Given the description of an element on the screen output the (x, y) to click on. 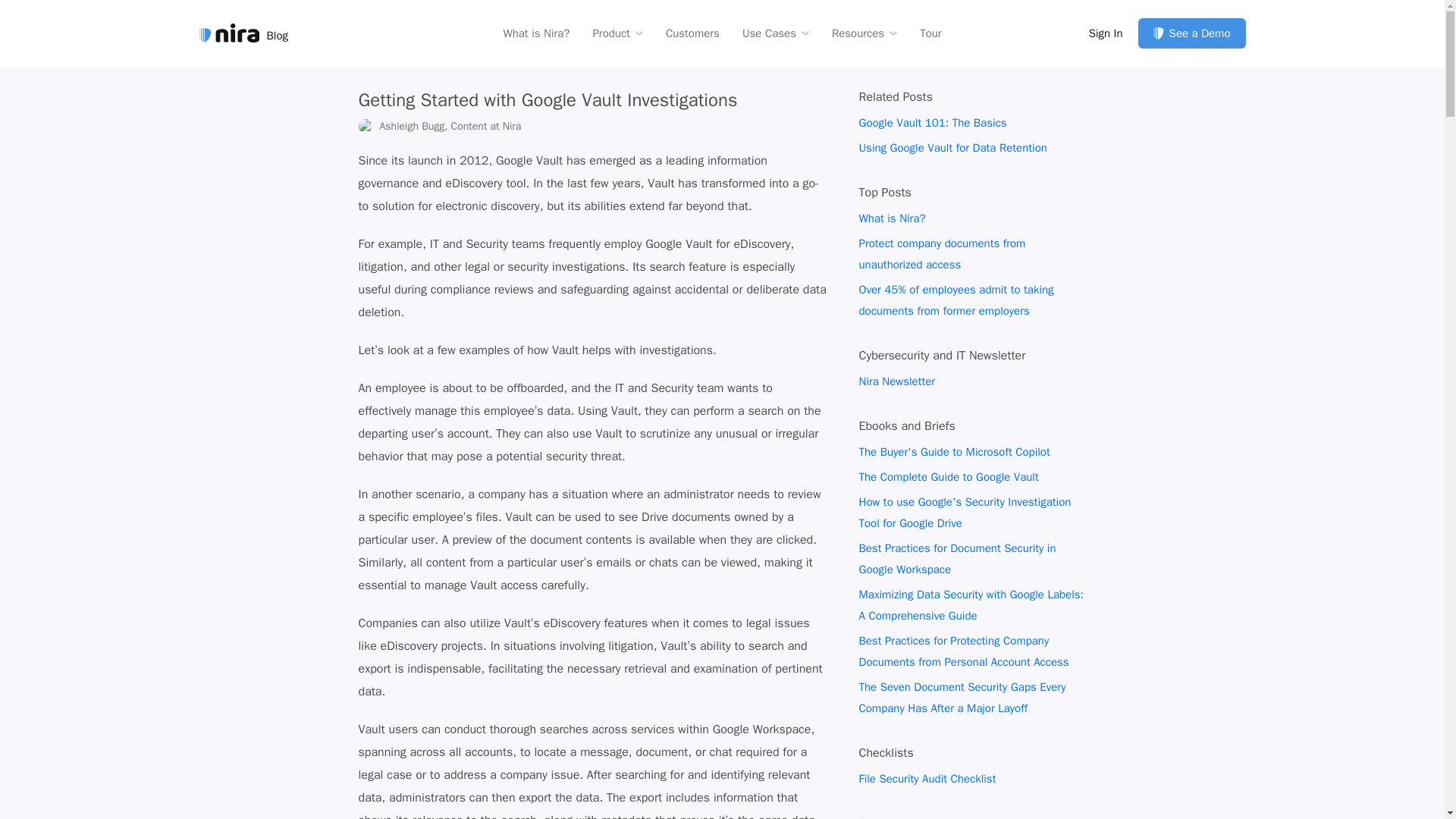
Blog (242, 33)
Ashleigh Bugg (365, 126)
What is Nira? (535, 32)
Resources (864, 32)
Use Cases (775, 32)
Customers (692, 32)
Product (617, 32)
